Given the description of an element on the screen output the (x, y) to click on. 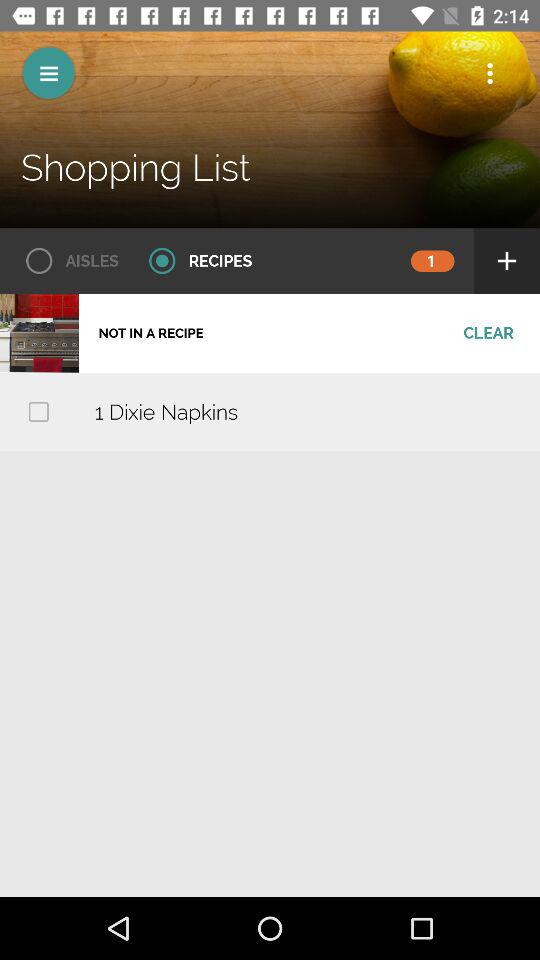
turn on the icon to the right of not in a (488, 333)
